Given the description of an element on the screen output the (x, y) to click on. 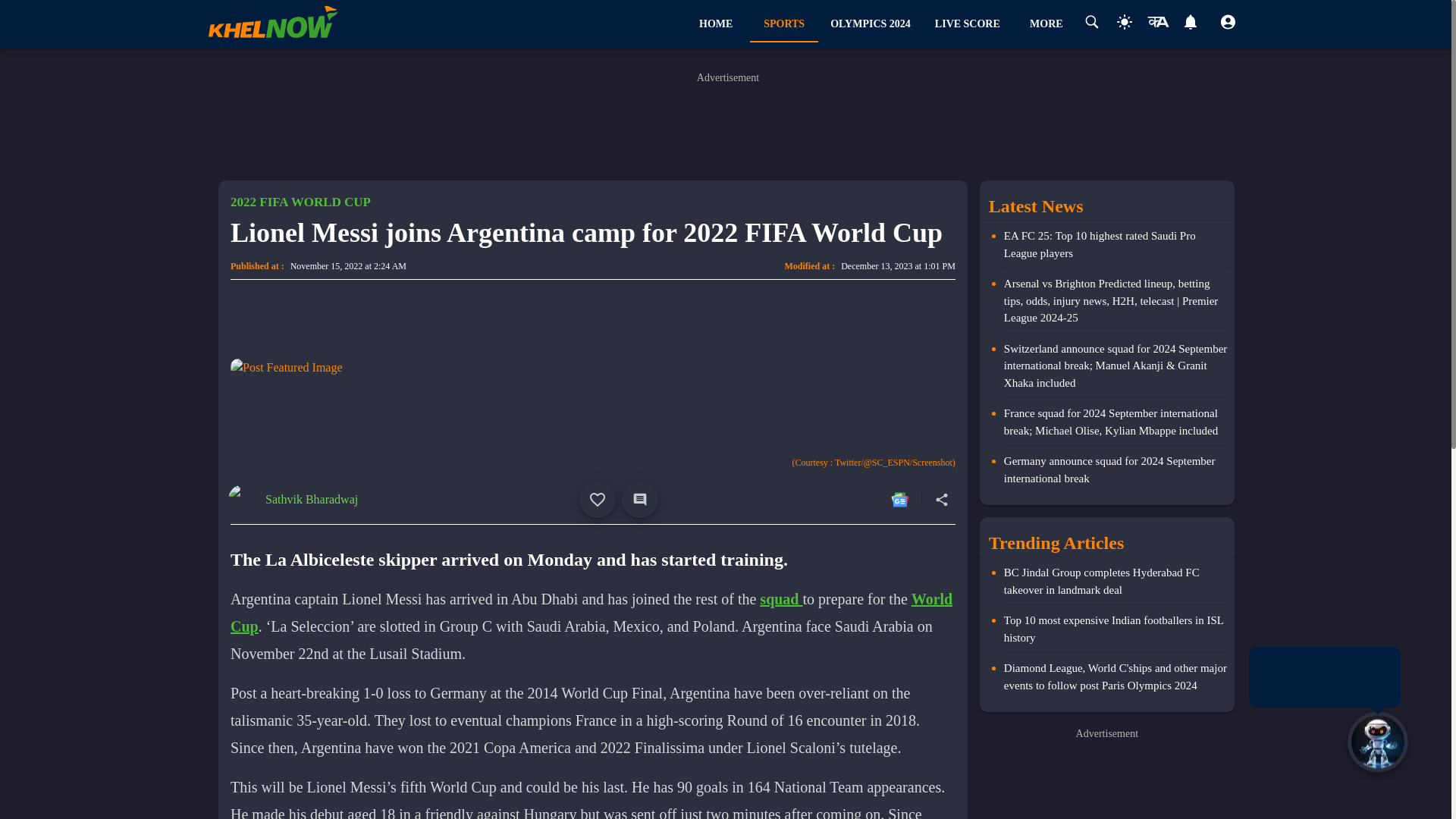
HOME (715, 23)
global-desktop-top-banner-ad (727, 124)
EA FC 25: Top 10 highest rated Saudi Pro League players (1116, 247)
OLYMPICS 2024 (870, 23)
LIVE SCORE (967, 23)
SPORTS (783, 23)
squad (781, 597)
MORE (1045, 23)
